Given the description of an element on the screen output the (x, y) to click on. 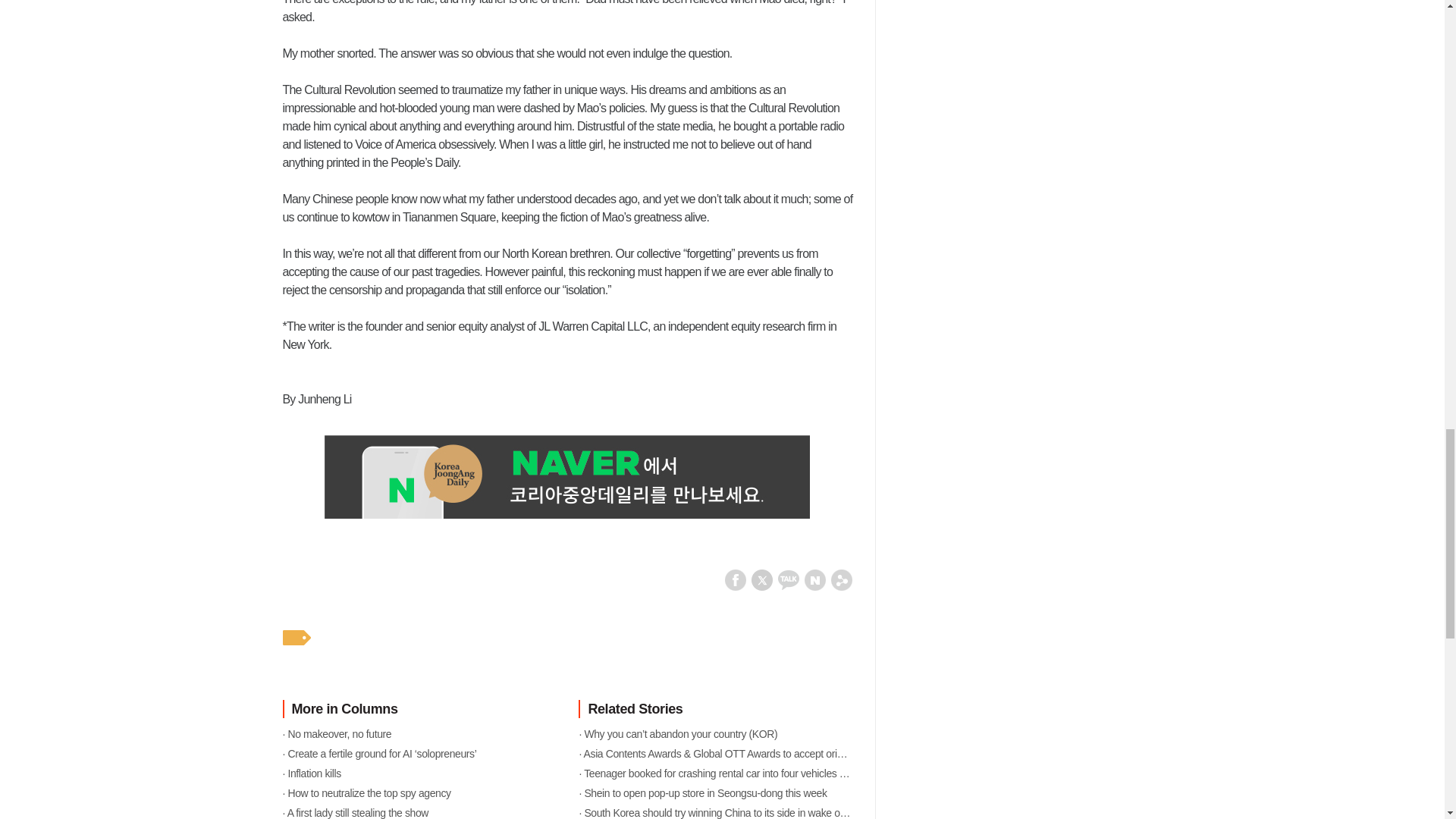
Share to Twitter New Window (762, 578)
Copy URL To Clipboard (841, 578)
No makeover, no future (419, 732)
Share to Facebook New Window (735, 578)
A first lady still stealing the show (419, 810)
Shein to open pop-up store in Seongsu-dong this week (714, 792)
Share to Naver Blog New Window (815, 578)
Inflation kills (419, 772)
How to neutralize the top spy agency (419, 792)
Share to KakaoTalk New Window (788, 578)
